Given the description of an element on the screen output the (x, y) to click on. 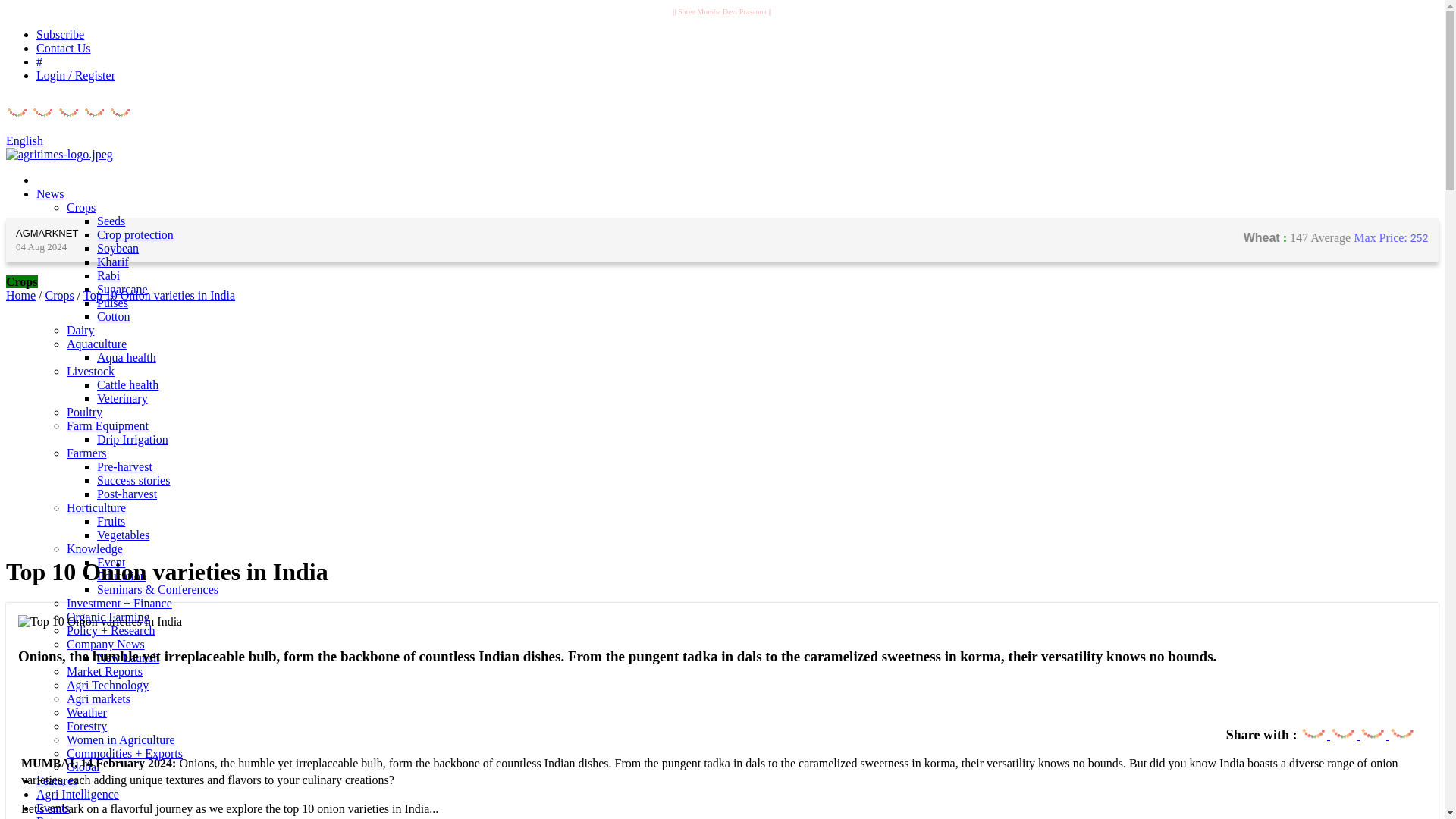
Twitter (1372, 725)
Kharif (113, 261)
Sugarcane (122, 288)
Pulses (112, 302)
Rabi (108, 275)
Event (111, 562)
Aqua health (126, 357)
English (24, 140)
Cattle health (127, 384)
Whatsapp (1343, 725)
Poultry (83, 411)
Facebook (1313, 725)
Linkedin (1402, 725)
Horticulture (95, 507)
